Given the description of an element on the screen output the (x, y) to click on. 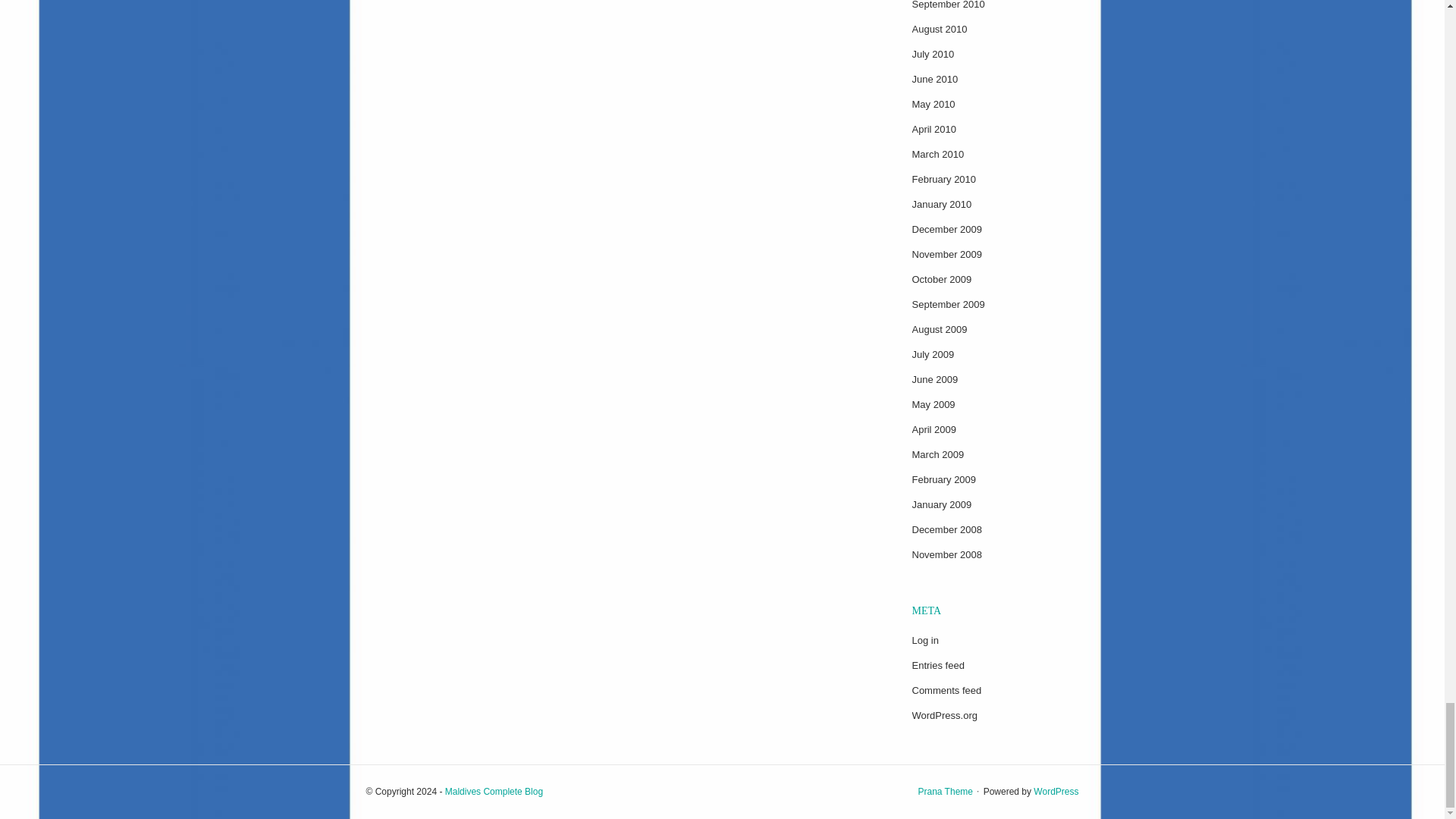
WordPress (1055, 791)
Prana Theme (944, 791)
